Given the description of an element on the screen output the (x, y) to click on. 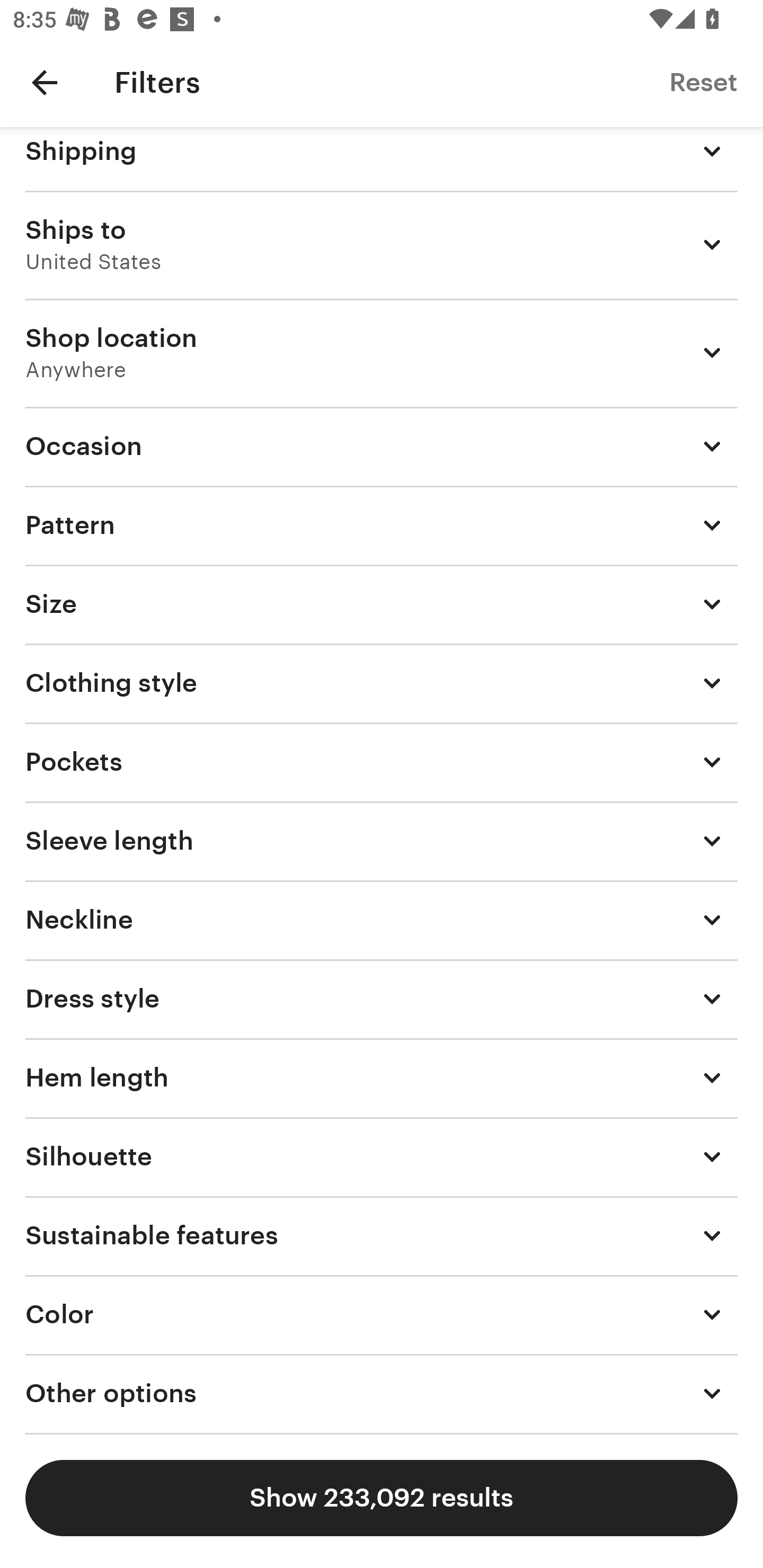
Navigate up (44, 82)
Reset (703, 81)
Shipping (381, 159)
Ships to United States (381, 245)
Shop location Anywhere (381, 352)
Occasion (381, 446)
Pattern (381, 525)
Size (381, 603)
Clothing style (381, 682)
Pockets (381, 761)
Sleeve length (381, 840)
Neckline (381, 919)
Dress style (381, 998)
Hem length (381, 1077)
Silhouette (381, 1156)
Sustainable features (381, 1235)
Color (381, 1314)
Other options (381, 1393)
Show 233,092 results Show results (381, 1497)
